Given the description of an element on the screen output the (x, y) to click on. 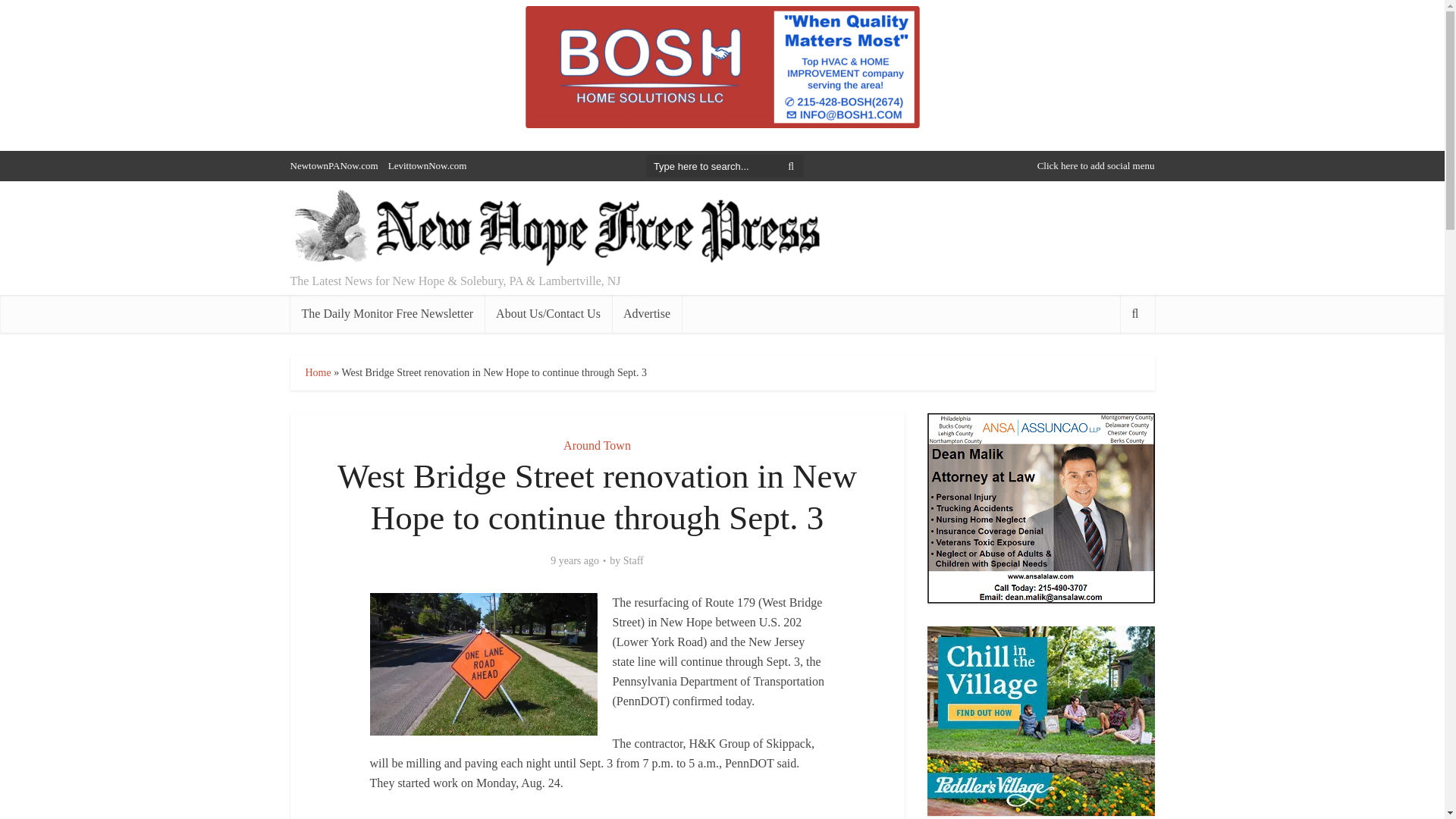
The Daily Monitor Free Newsletter (386, 313)
NewtownPANow.com (333, 165)
Around Town (596, 445)
Type here to search... (724, 165)
Advertise (646, 313)
Home (317, 372)
Click here to add social menu (1095, 165)
New Hope Free Press (555, 228)
Staff (633, 561)
Type here to search... (724, 165)
LevittownNow.com (427, 165)
